Given the description of an element on the screen output the (x, y) to click on. 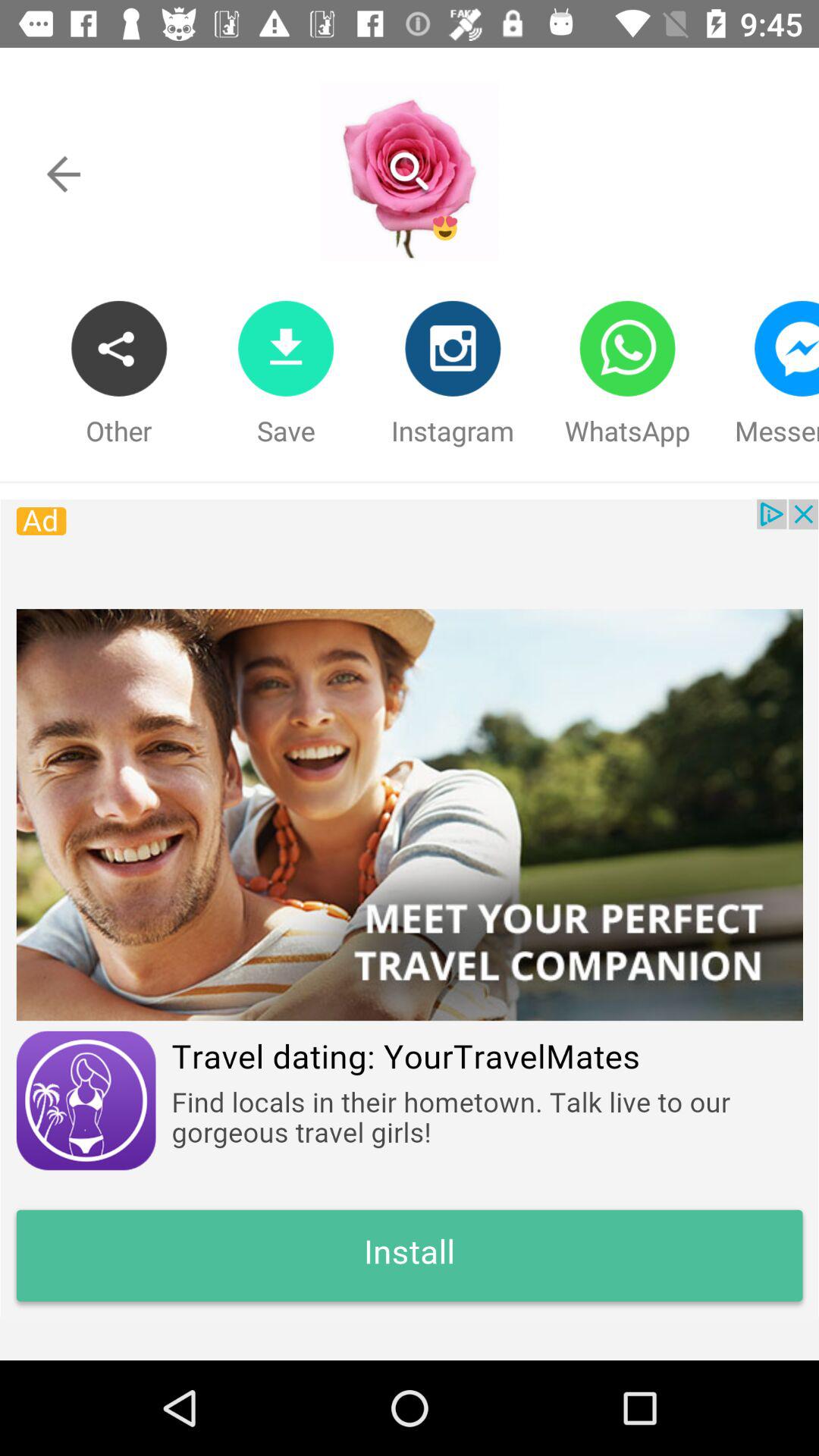
open advertisement (409, 908)
